Given the description of an element on the screen output the (x, y) to click on. 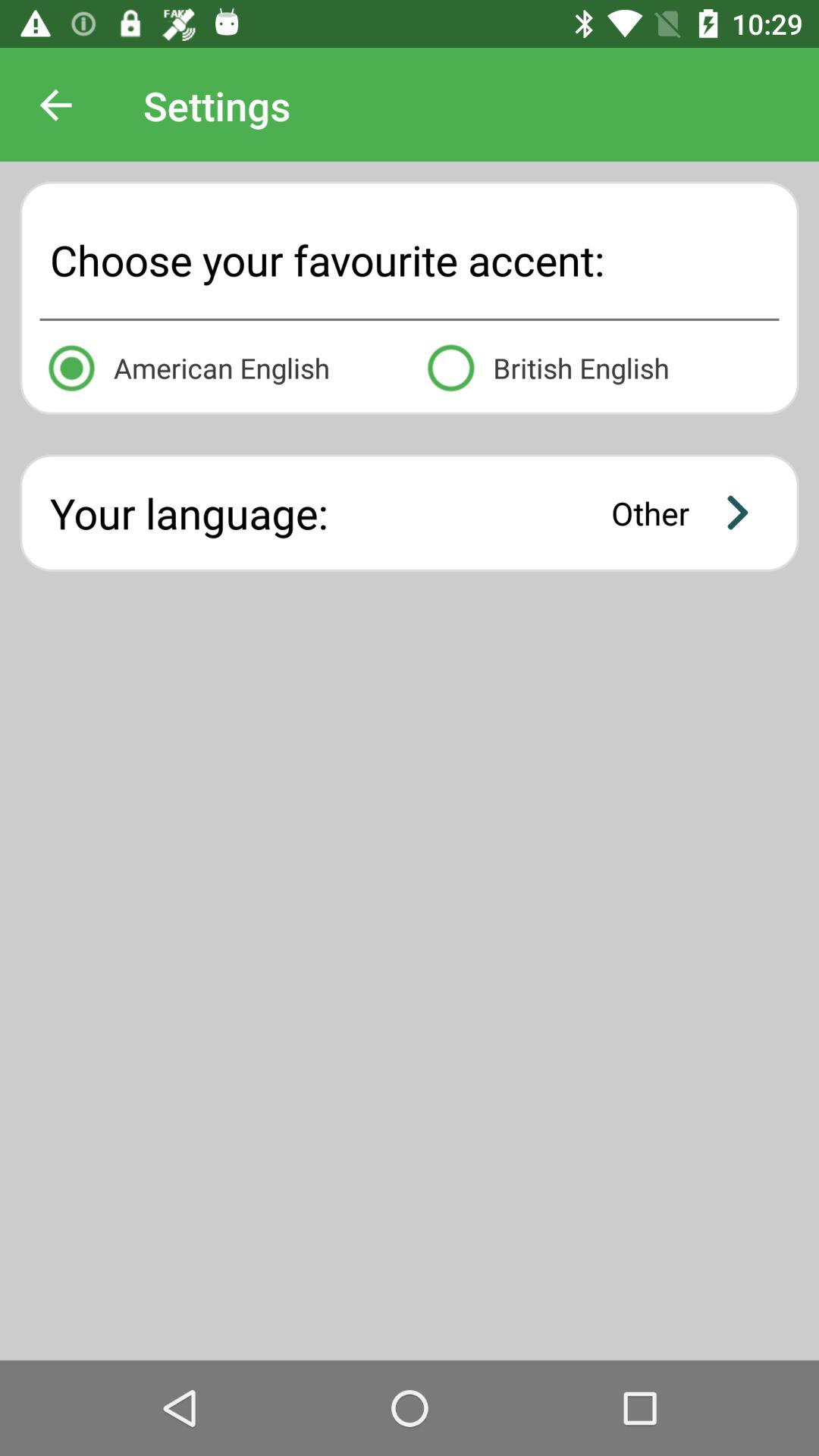
turn on the icon to the right of american english icon (599, 365)
